Given the description of an element on the screen output the (x, y) to click on. 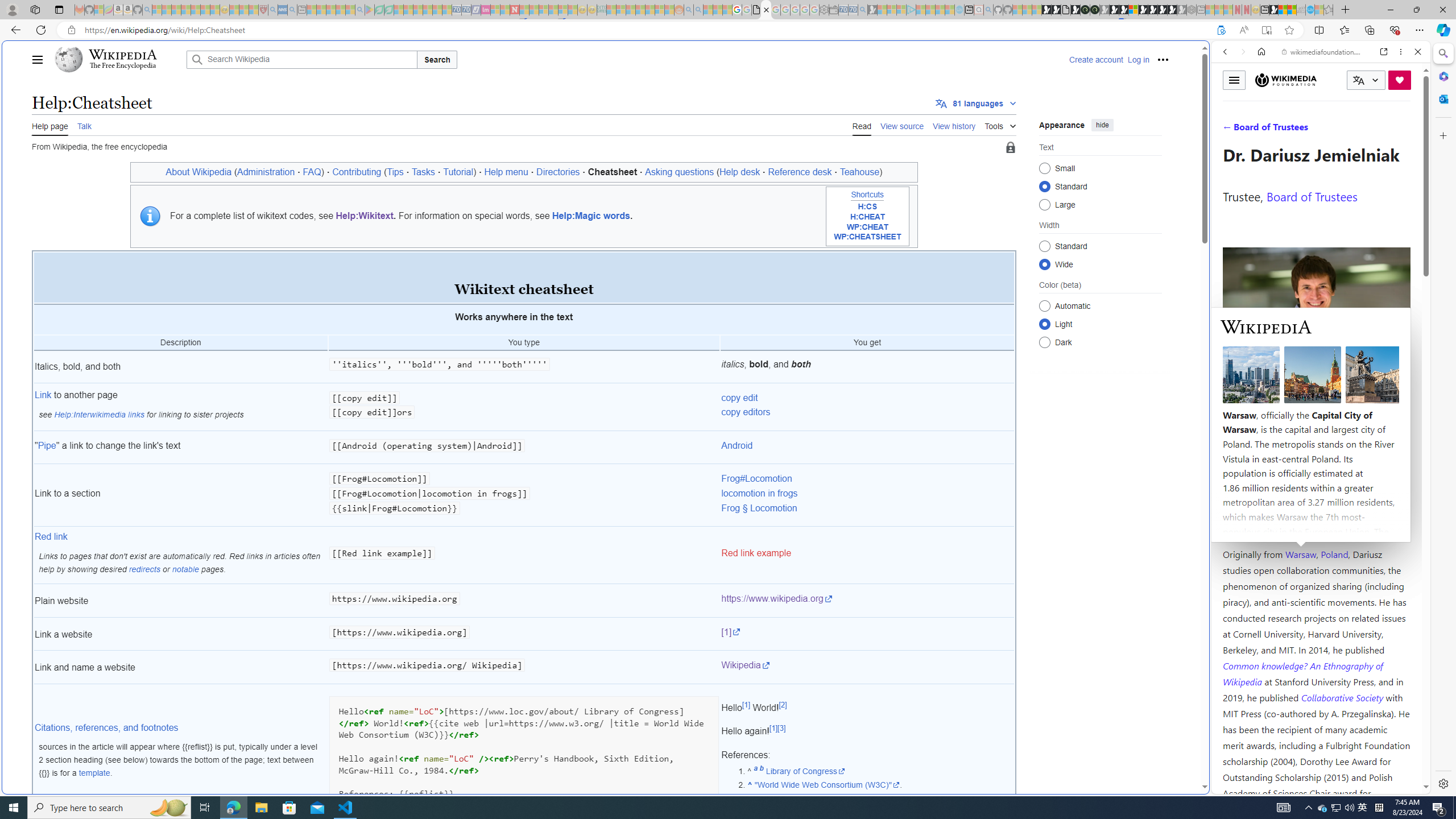
Wikipedia (122, 54)
Class: i icon icon-translate language-switcher__icon (1358, 80)
Page semi-protected (1010, 147)
Wikipedia (866, 667)
Directories (557, 172)
The Free Encyclopedia (121, 65)
Support Wikipedia? (1220, 29)
[[Red link example]] (523, 556)
Tools (1000, 124)
https://www.wikipedia.org (866, 600)
[1] (772, 728)
